Given the description of an element on the screen output the (x, y) to click on. 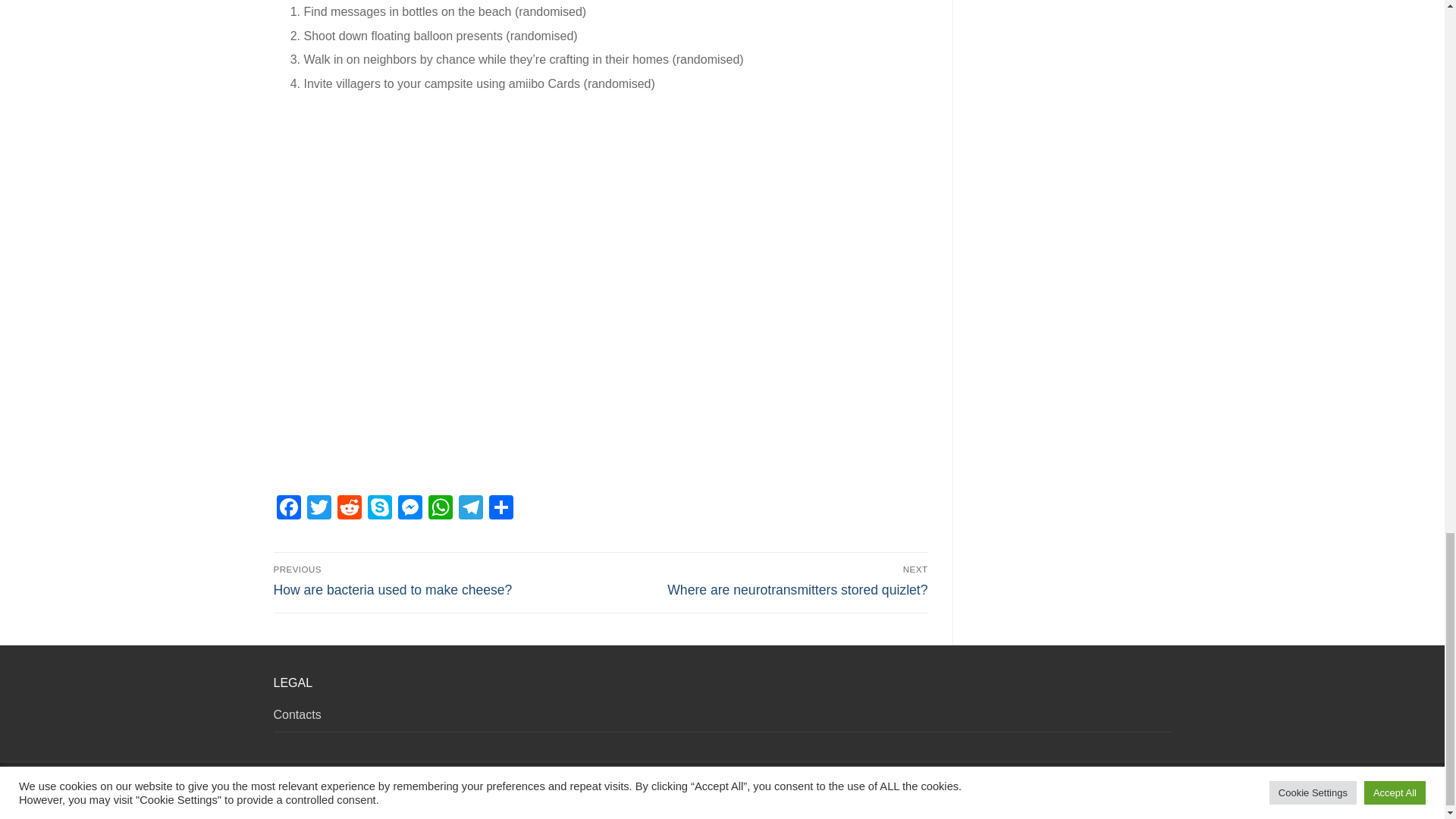
Reddit (348, 509)
Telegram (469, 509)
Twitter (317, 509)
Telegram (469, 509)
Twitter (317, 509)
Messenger (409, 509)
Facebook (287, 509)
Facebook (287, 509)
Skype (379, 509)
Messenger (409, 509)
Skype (379, 509)
WhatsApp (439, 509)
Reddit (348, 509)
WhatsApp (439, 509)
